Given the description of an element on the screen output the (x, y) to click on. 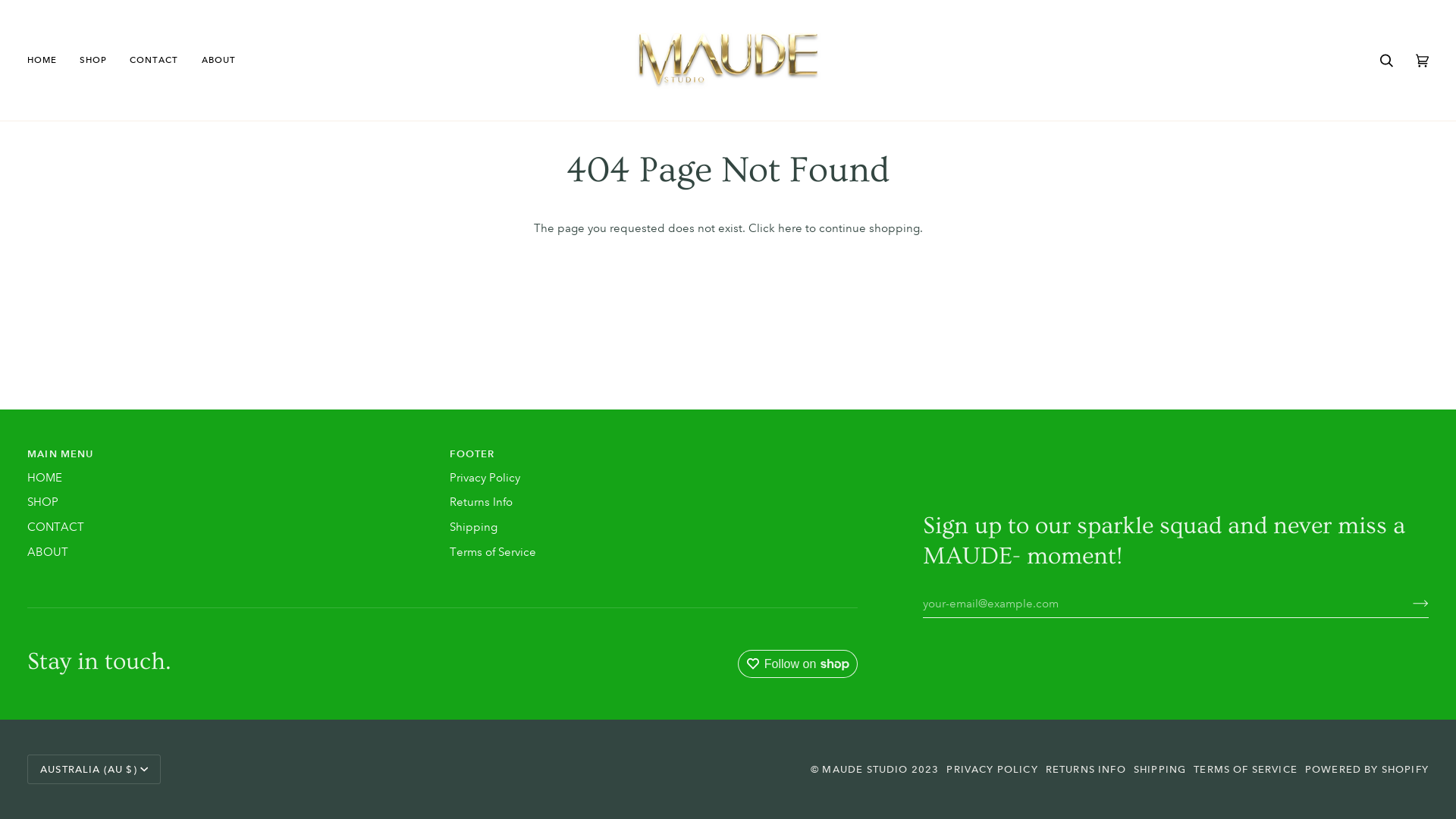
POWERED BY SHOPIFY Element type: text (1366, 768)
HOME Element type: text (47, 60)
Privacy Policy Element type: text (484, 476)
SHIPPING Element type: text (1159, 768)
Shipping Element type: text (473, 526)
CONTACT Element type: text (153, 60)
here Element type: text (790, 228)
SHOP Element type: text (93, 60)
PRIVACY POLICY Element type: text (991, 768)
CONTACT Element type: text (55, 526)
Terms of Service Element type: text (492, 551)
Search Element type: text (1386, 60)
RETURNS INFO Element type: text (1085, 768)
AUSTRALIA (AU $) Element type: text (93, 768)
TERMS OF SERVICE Element type: text (1245, 768)
ABOUT Element type: text (218, 60)
Cart
(0) Element type: text (1422, 60)
SHOP Element type: text (42, 501)
Returns Info Element type: text (480, 501)
MAUDE STUDIO Element type: text (864, 768)
ABOUT Element type: text (47, 551)
HOME Element type: text (44, 476)
